Given the description of an element on the screen output the (x, y) to click on. 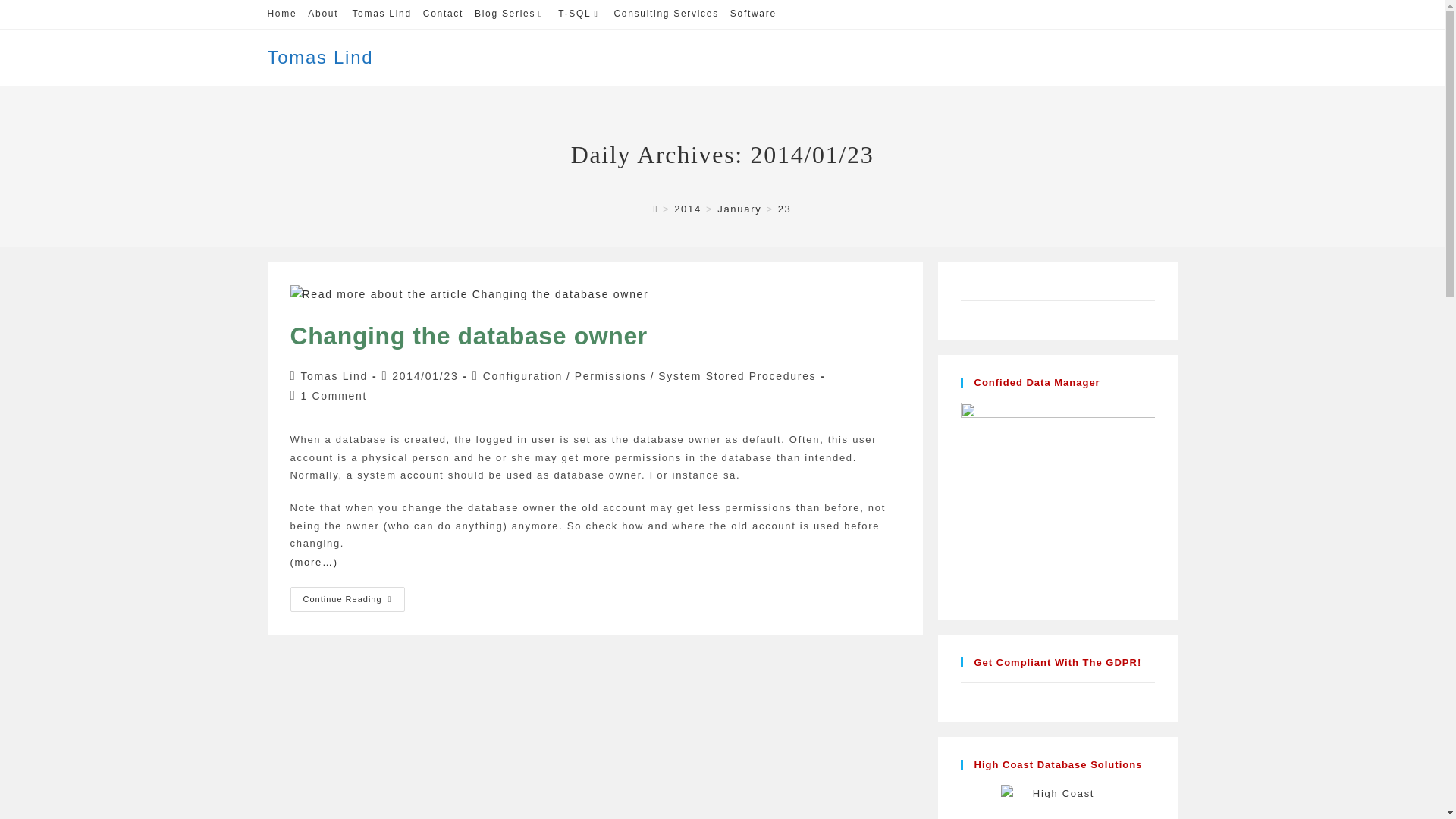
1 Comment (332, 395)
Configuration (522, 376)
System Stored Procedures (736, 376)
Changing the database owner (346, 599)
Consulting Services (467, 335)
Permissions (664, 13)
Tomas Lind (610, 376)
Blog Series (333, 376)
Contact (510, 13)
T-SQL (443, 13)
Posts by Tomas Lind (579, 13)
Home (333, 376)
Tomas Lind (281, 13)
January (319, 56)
